Given the description of an element on the screen output the (x, y) to click on. 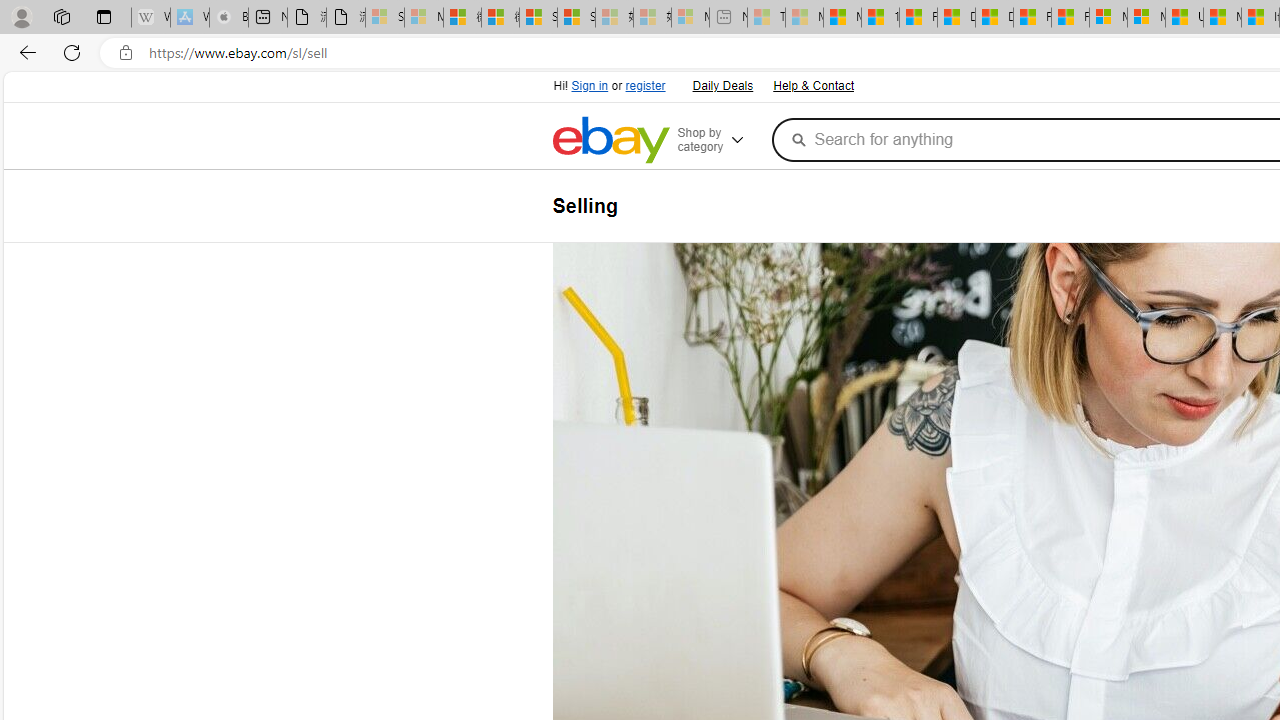
Foo BAR | Trusted Community Engagement and Contributions (1070, 17)
Drinking tea every day is proven to delay biological aging (993, 17)
Sign in (589, 85)
Buy iPad - Apple - Sleeping (228, 17)
Top Stories - MSN - Sleeping (765, 17)
